Given the description of an element on the screen output the (x, y) to click on. 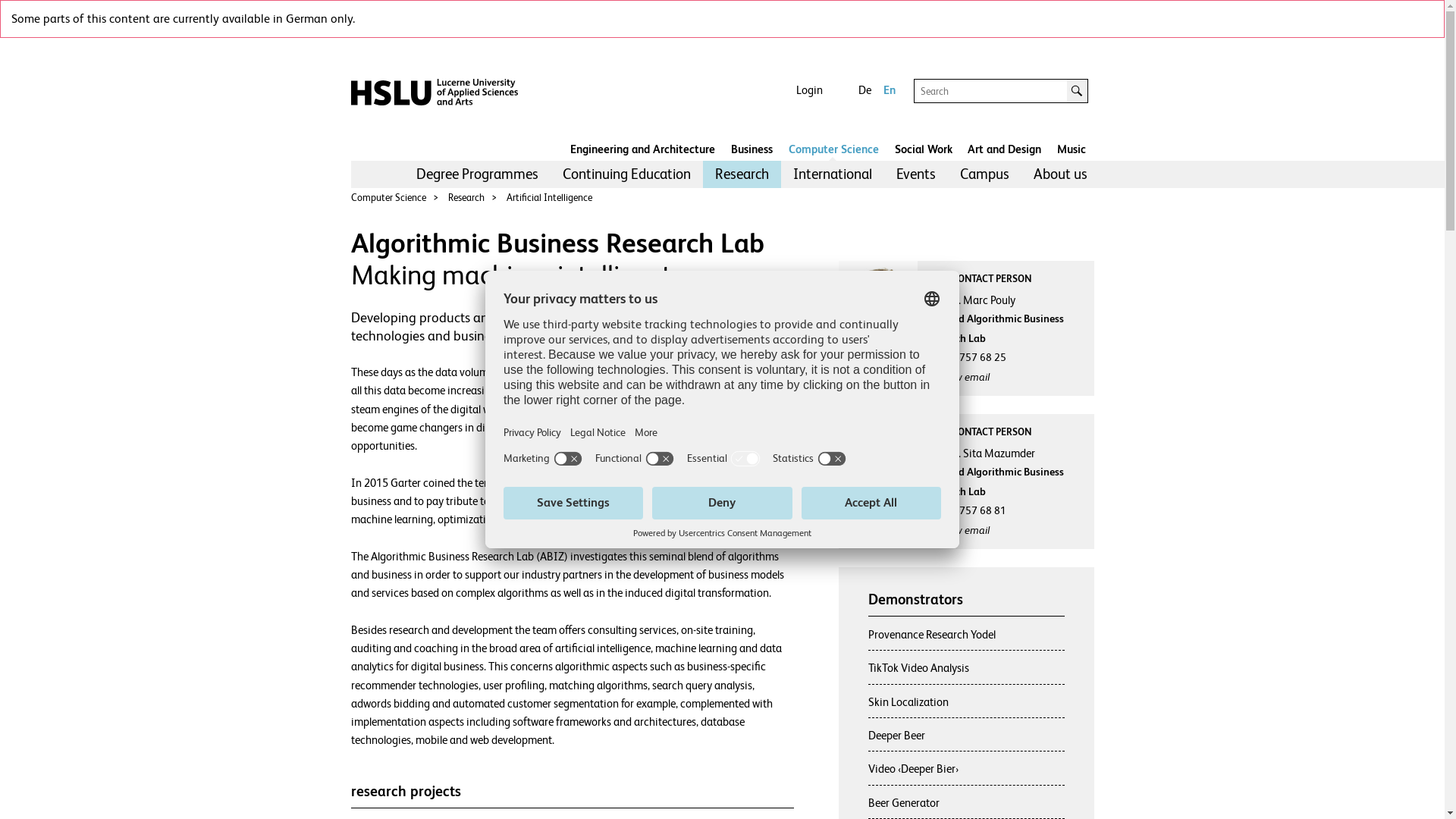
Beer Generator Element type: text (903, 802)
Campus Element type: text (984, 174)
De Element type: text (864, 90)
Deeper Beer Element type: text (896, 734)
Business Element type: text (751, 149)
Engineering and Architecture Element type: text (642, 149)
+41 41 757 68 81 Element type: text (965, 510)
Provenance Research Yodel Element type: text (931, 633)
Events Element type: text (915, 174)
Prof. Dr. Sita Mazumder Element type: text (1004, 453)
Research Element type: text (466, 197)
About us Element type: text (1059, 174)
En Element type: text (889, 90)
Artificial Intelligence Element type: text (549, 197)
Computer Science Element type: text (833, 149)
Show email Element type: text (956, 376)
Search Element type: text (1077, 90)
TikTok Video Analysis Element type: text (918, 667)
Continuing Education Element type: text (626, 174)
Login Element type: text (809, 90)
Music Element type: text (1071, 149)
Art and Design Element type: text (1004, 149)
Computer Science Element type: text (387, 197)
International Element type: text (832, 174)
Degree Programmes Element type: text (476, 174)
+41 41 757 68 25 Element type: text (965, 357)
Social Work Element type: text (923, 149)
Skin Localization Element type: text (908, 701)
Research Element type: text (741, 174)
Show email Element type: text (956, 530)
Prof. Dr. Marc Pouly Element type: text (1004, 300)
